Given the description of an element on the screen output the (x, y) to click on. 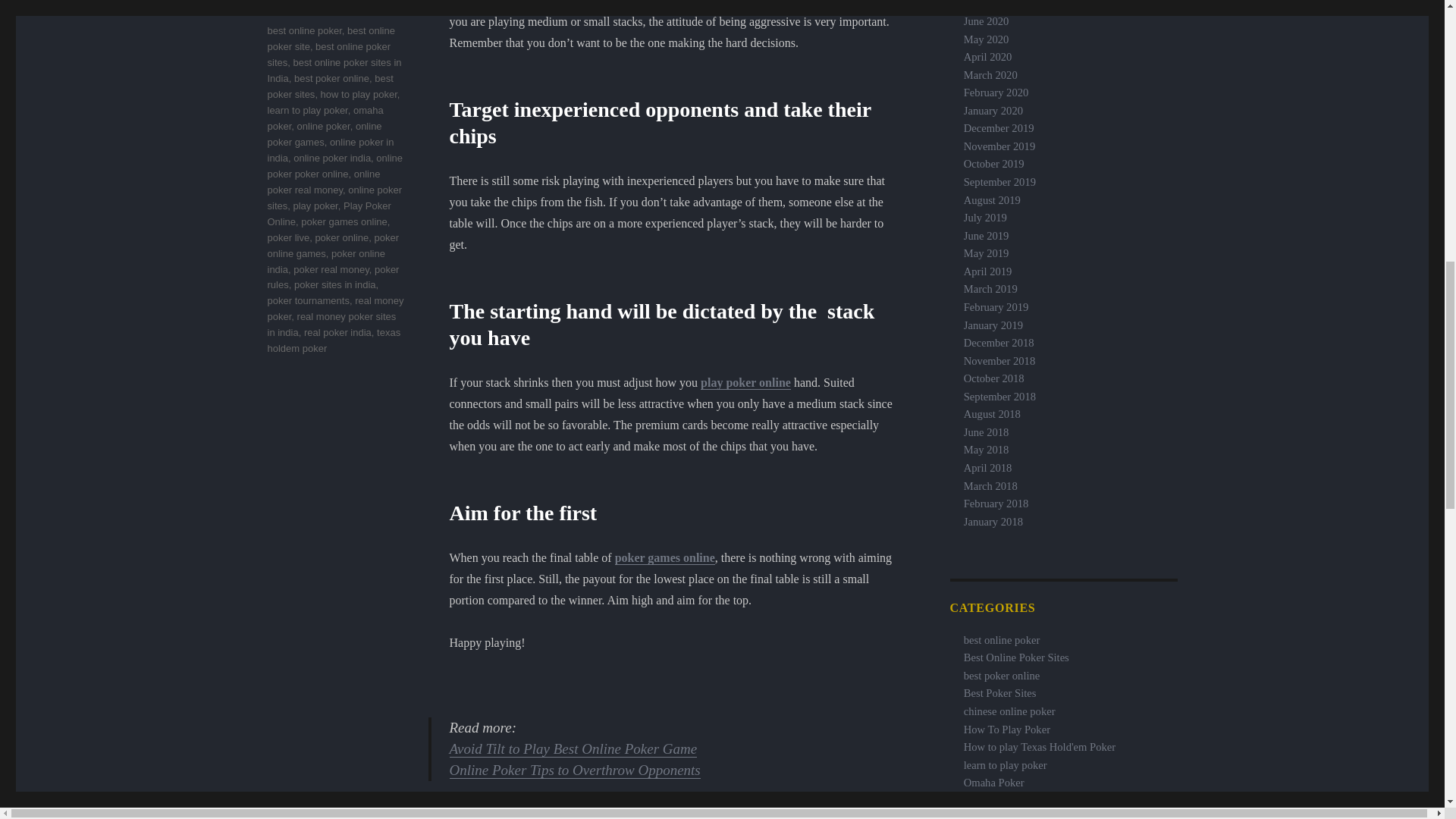
online poker India (569, 3)
poker games online (664, 557)
Play poker online at the best poker sites in India PokerLion (999, 693)
Avoid Tilt to Play Best Online Poker Game (573, 748)
play poker online (745, 382)
Online Poker Tips to Overthrow Opponents (574, 770)
